Given the description of an element on the screen output the (x, y) to click on. 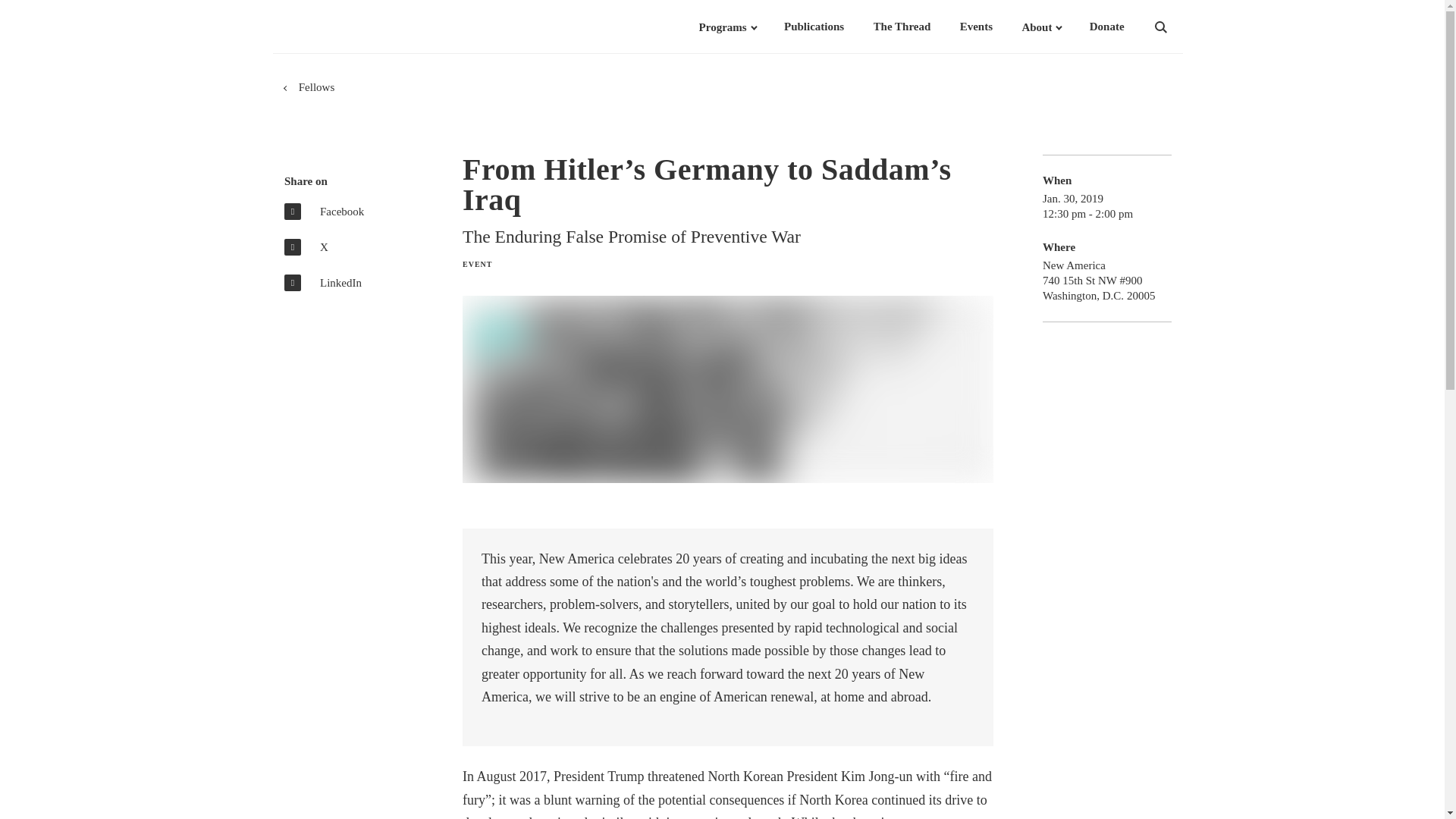
The Thread (902, 26)
Programs (722, 26)
Publications (814, 26)
Search (1180, 27)
Search (1180, 27)
Search (1180, 27)
Fellows (316, 87)
New America (357, 26)
